Given the description of an element on the screen output the (x, y) to click on. 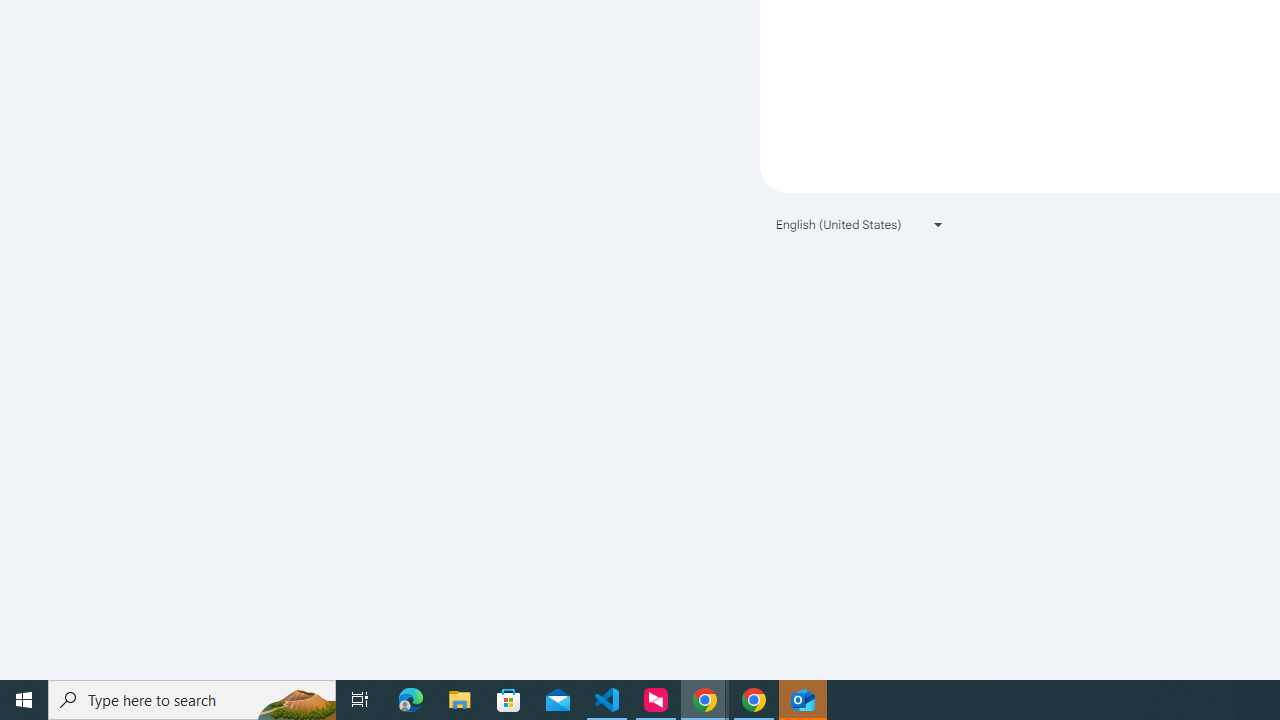
English (United States) (860, 224)
